Given the description of an element on the screen output the (x, y) to click on. 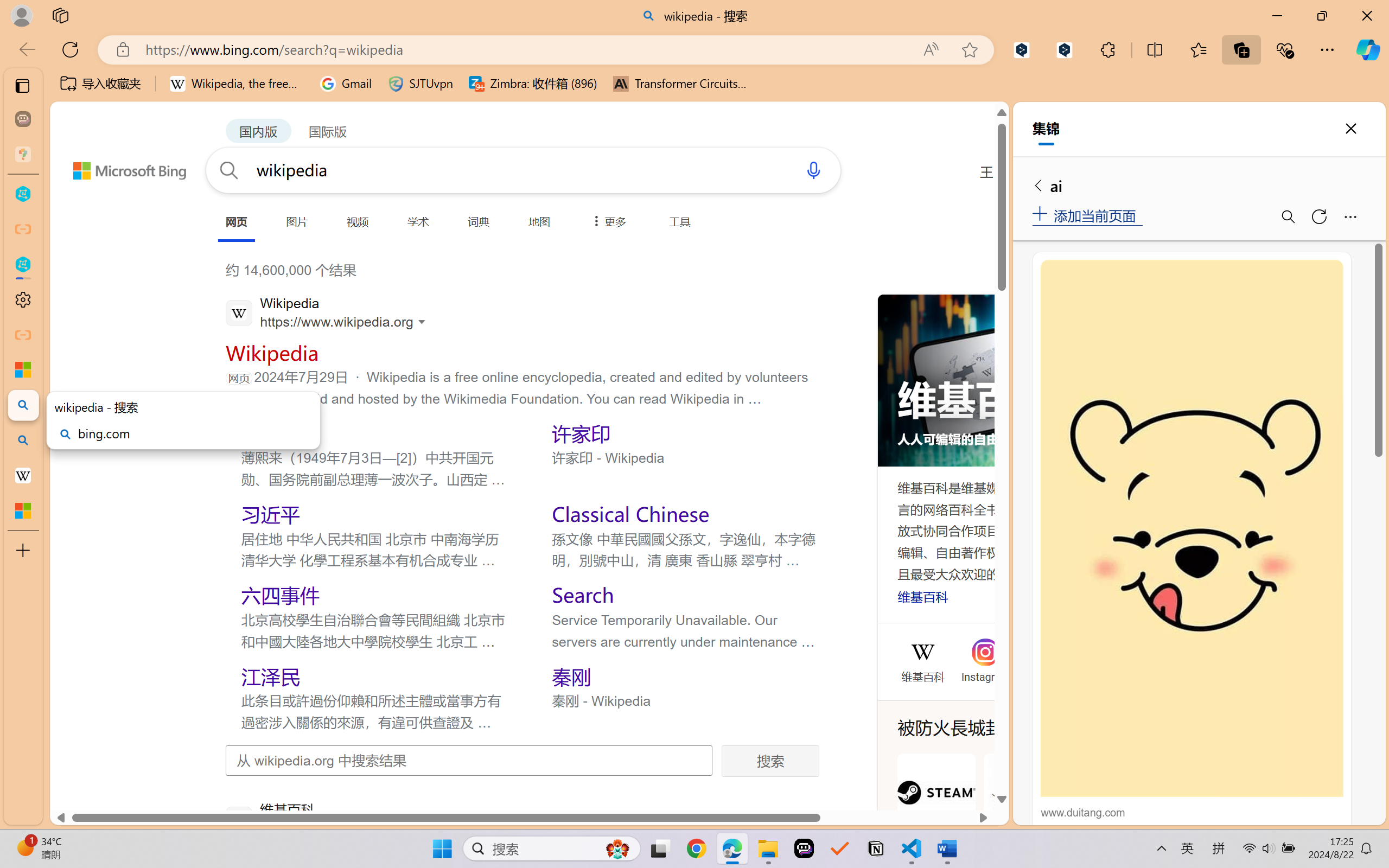
Classical Chinese (630, 514)
Steam (936, 805)
Earth - Wikipedia (22, 475)
